Given the description of an element on the screen output the (x, y) to click on. 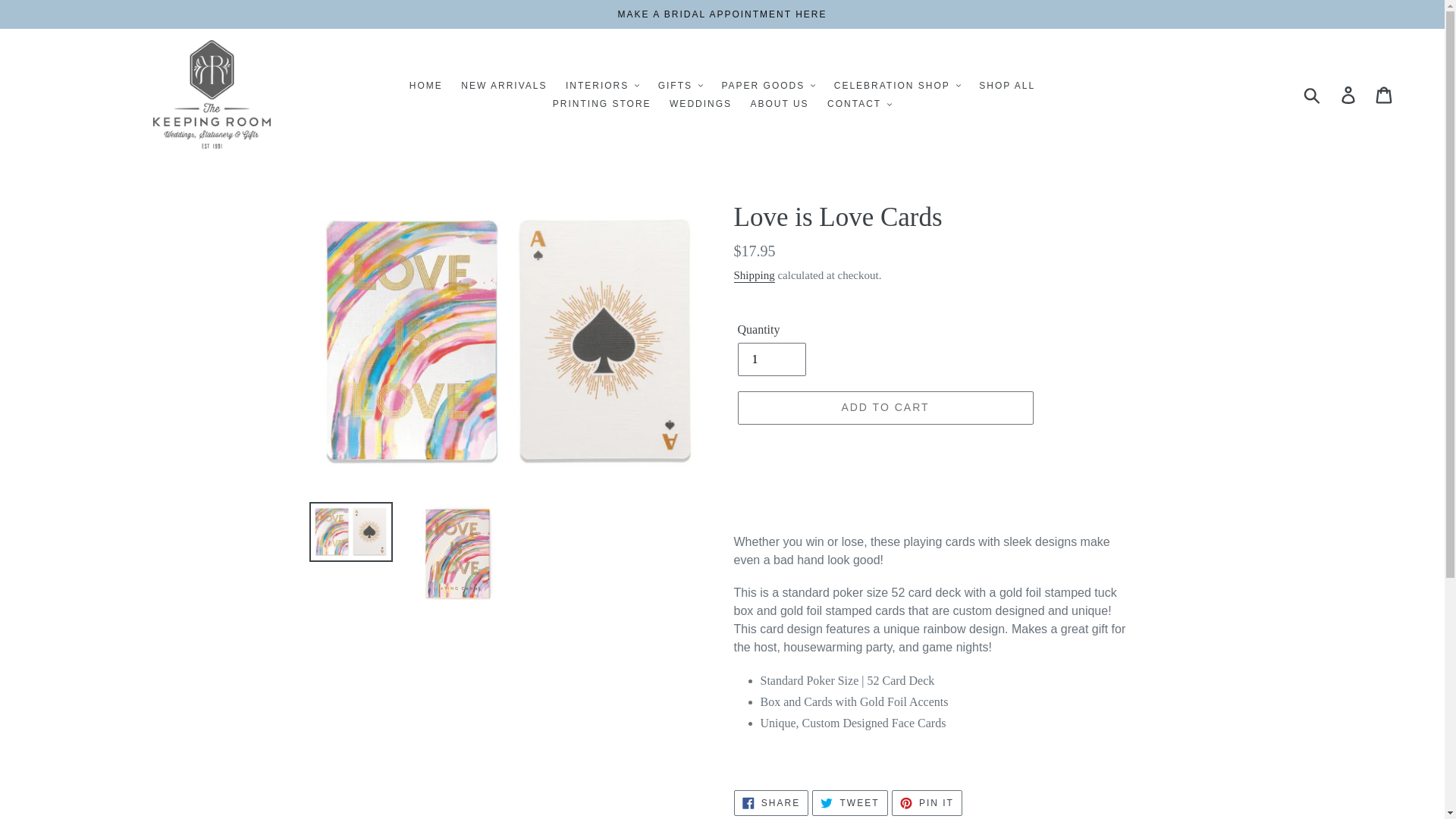
1 (770, 359)
HOME (425, 85)
NEW ARRIVALS (503, 85)
